Given the description of an element on the screen output the (x, y) to click on. 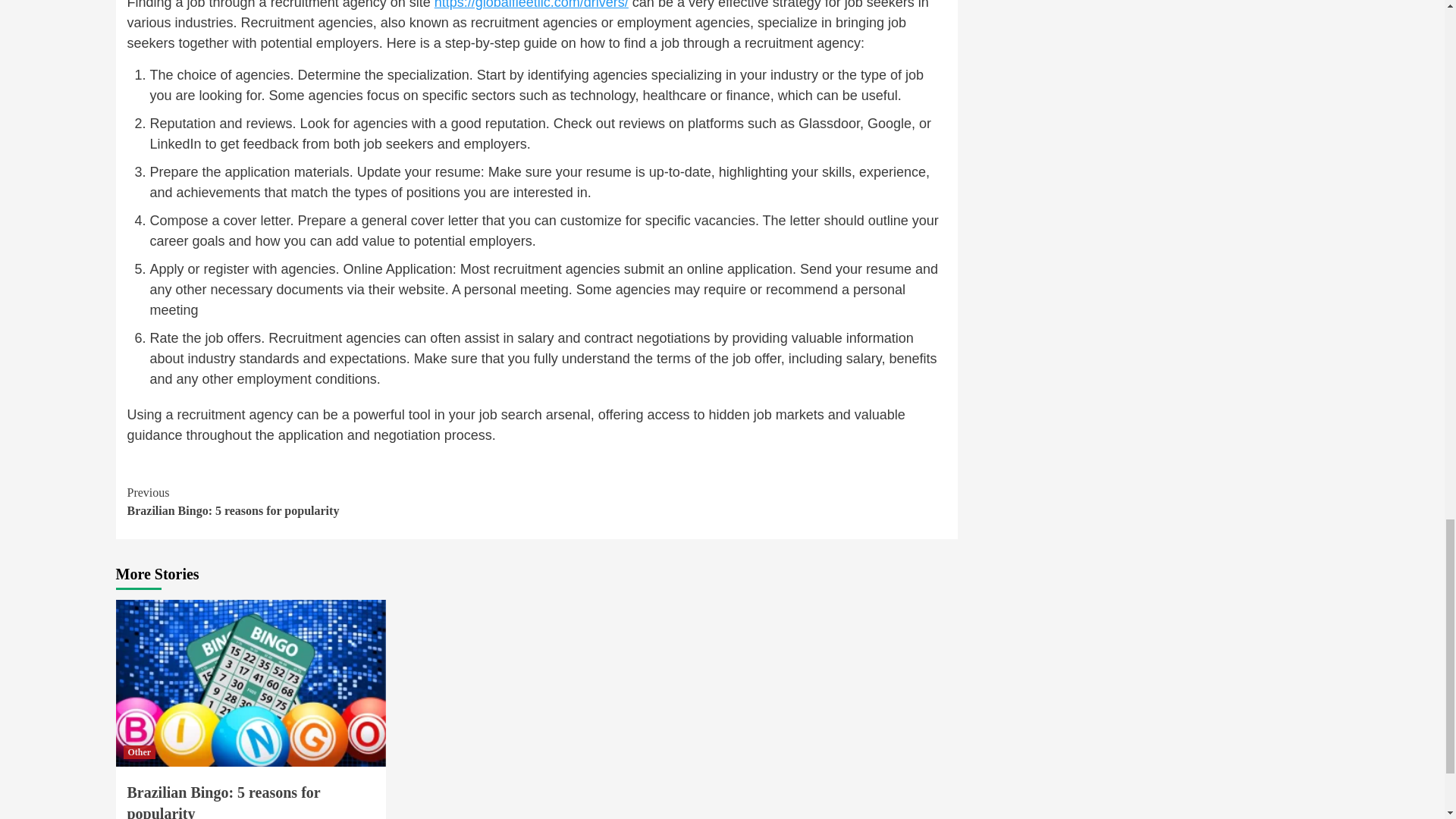
Other (332, 502)
Brazilian Bingo: 5 reasons for popularity (138, 752)
